Given the description of an element on the screen output the (x, y) to click on. 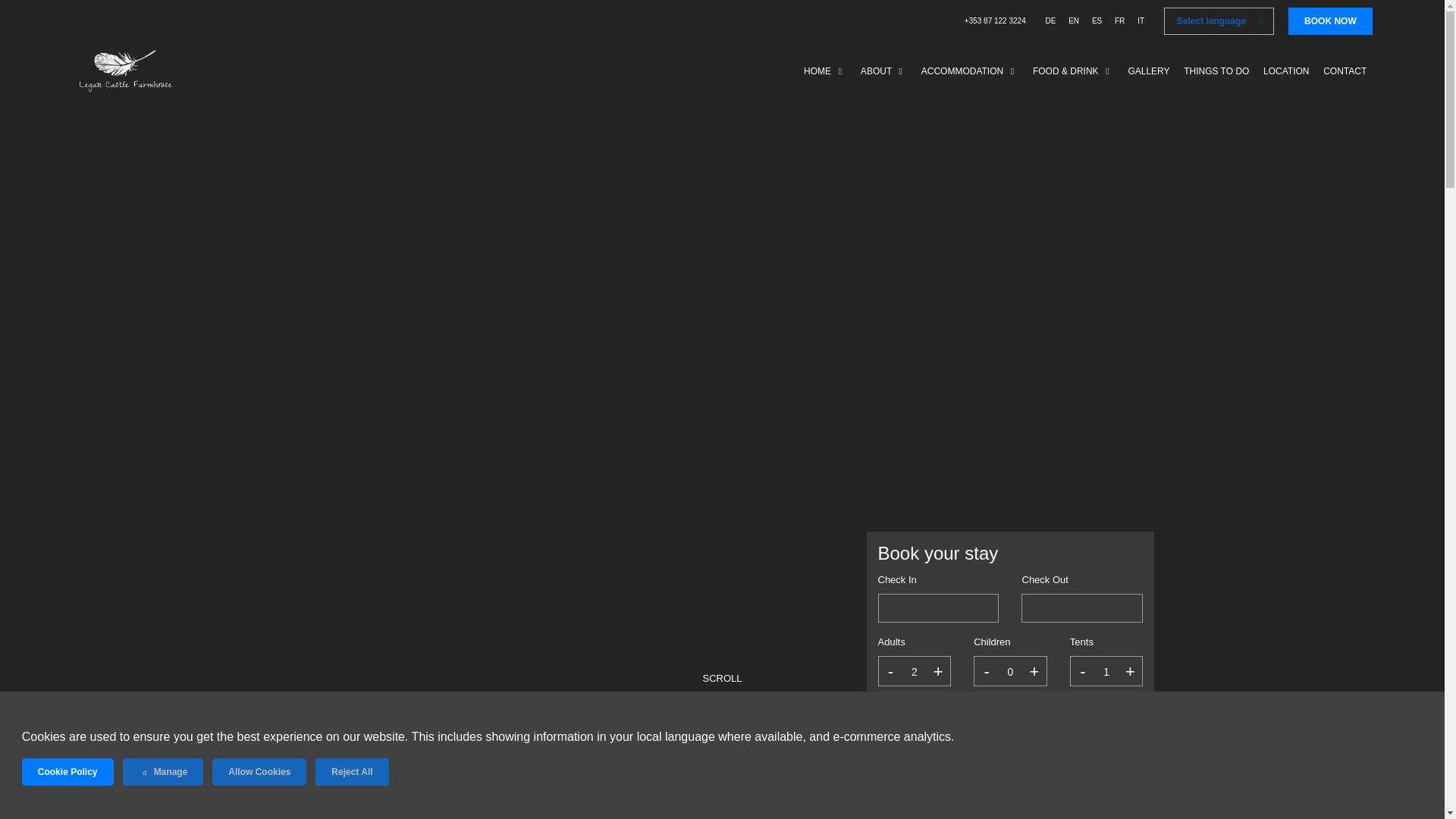
LOCATION (1285, 69)
GALLERY (1148, 69)
Select language (1219, 21)
CONTACT (1345, 69)
THINGS TO DO (1216, 69)
HOME (824, 69)
ACCOMMODATION (970, 69)
ABOUT (883, 69)
Book Now (1009, 776)
DE (1050, 7)
SCROLL (721, 685)
